Given the description of an element on the screen output the (x, y) to click on. 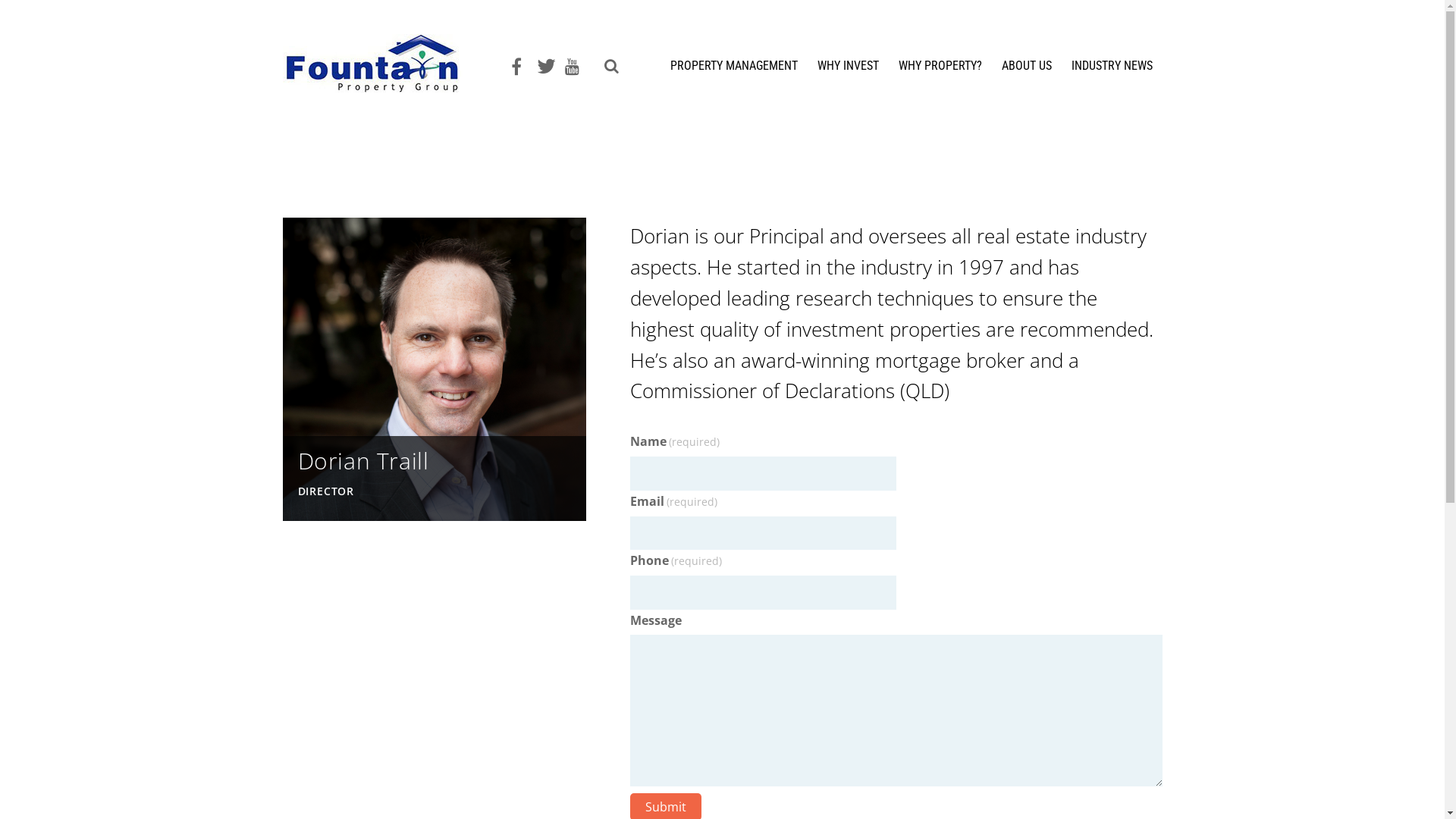
Investment Property & Wealth Creation Strategies Element type: hover (382, 63)
Search Element type: hover (606, 67)
Investment Property & Wealth Creation Strategies Element type: hover (382, 84)
Dorian Traill Element type: hover (433, 509)
Dorian Traill Element type: text (362, 460)
ABOUT US Element type: text (1025, 71)
INDUSTRY NEWS Element type: text (1111, 71)
PROPERTY MANAGEMENT Element type: text (733, 71)
WHY INVEST Element type: text (847, 71)
WHY PROPERTY? Element type: text (939, 71)
